Given the description of an element on the screen output the (x, y) to click on. 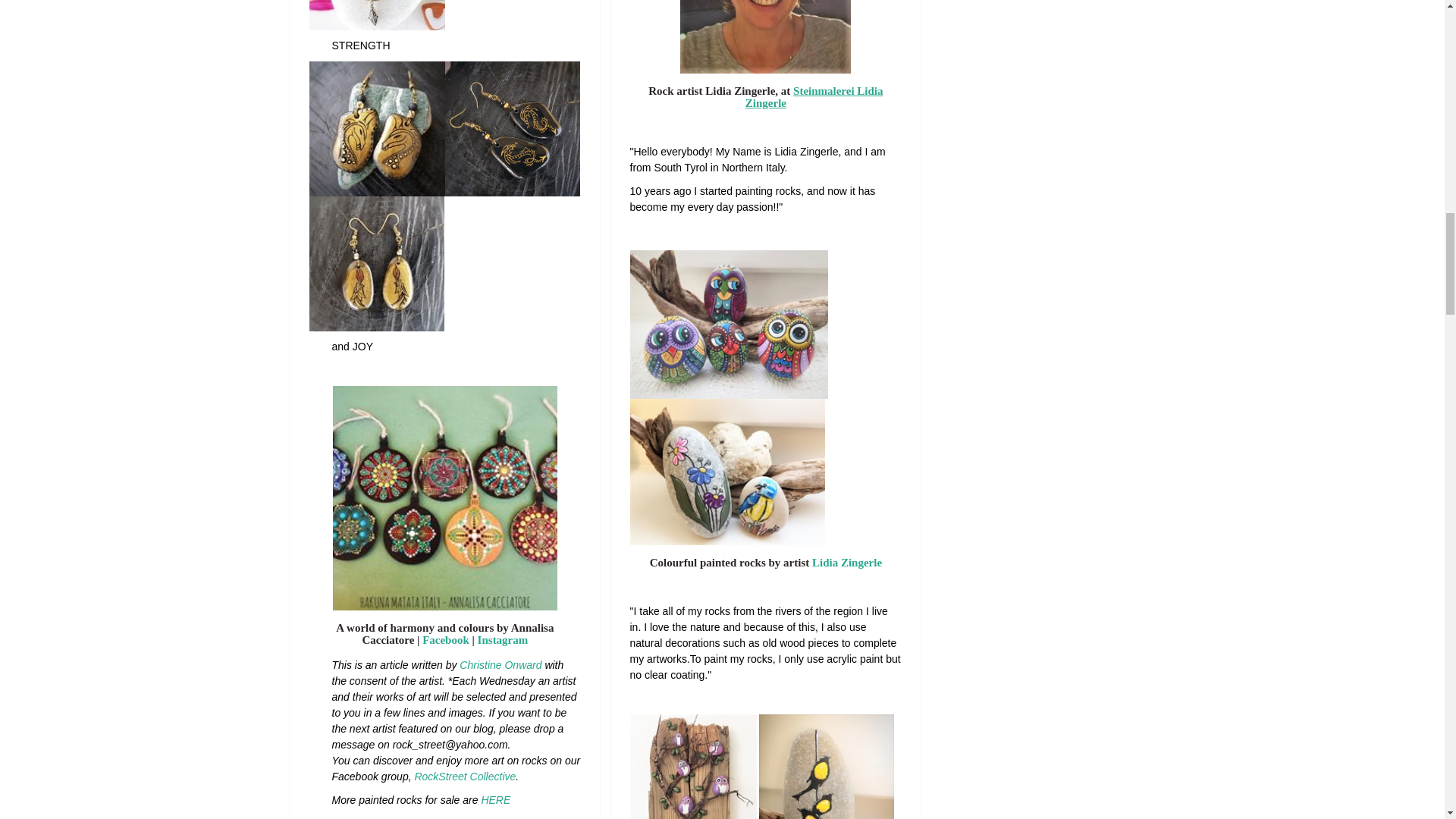
Christine Onward (500, 664)
Facebook (445, 639)
RockStreet Collective (464, 776)
Instagram (502, 639)
HERE (495, 799)
